Given the description of an element on the screen output the (x, y) to click on. 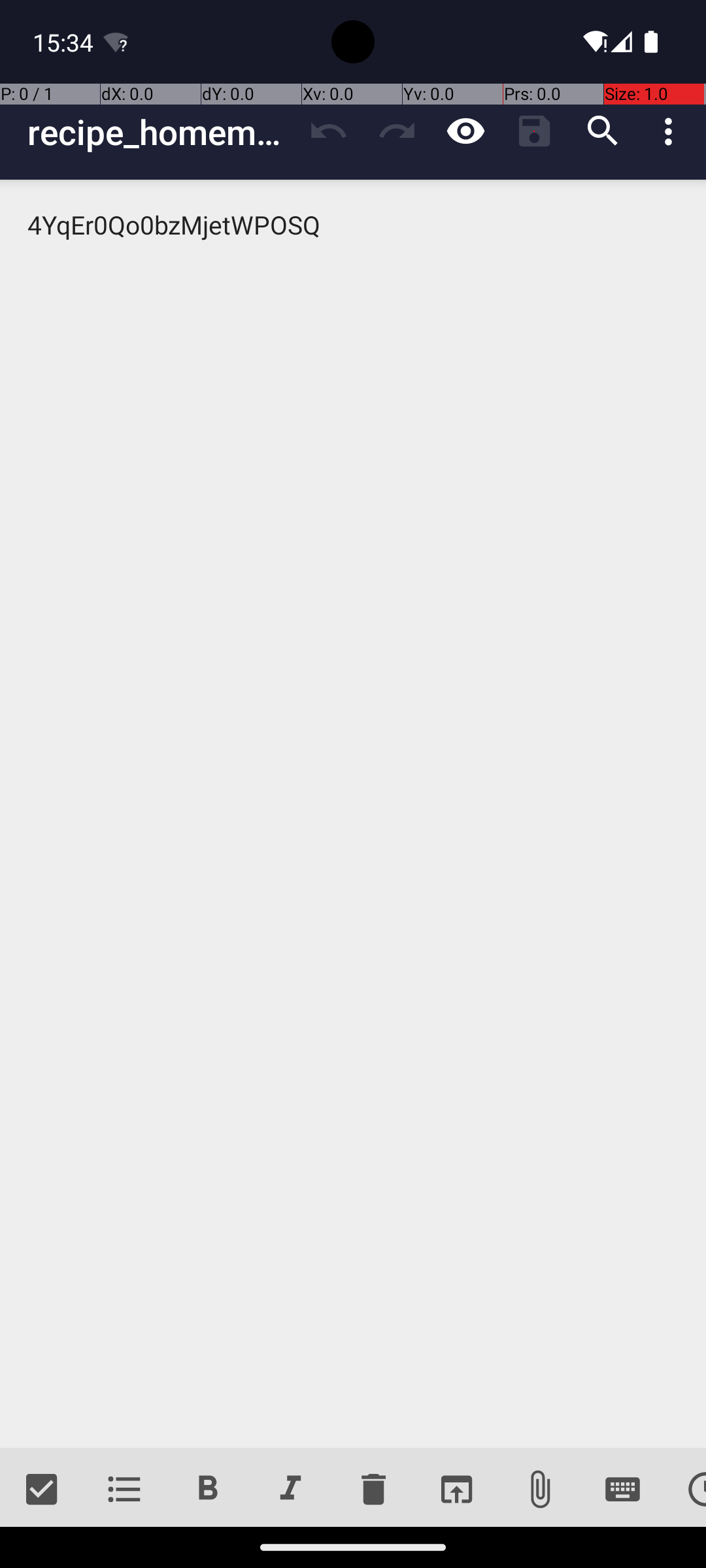
recipe_homemade_pizza_2023_10_06 Element type: android.widget.TextView (160, 131)
4YqEr0Qo0bzMjetWPOSQ
 Element type: android.widget.EditText (353, 813)
